Given the description of an element on the screen output the (x, y) to click on. 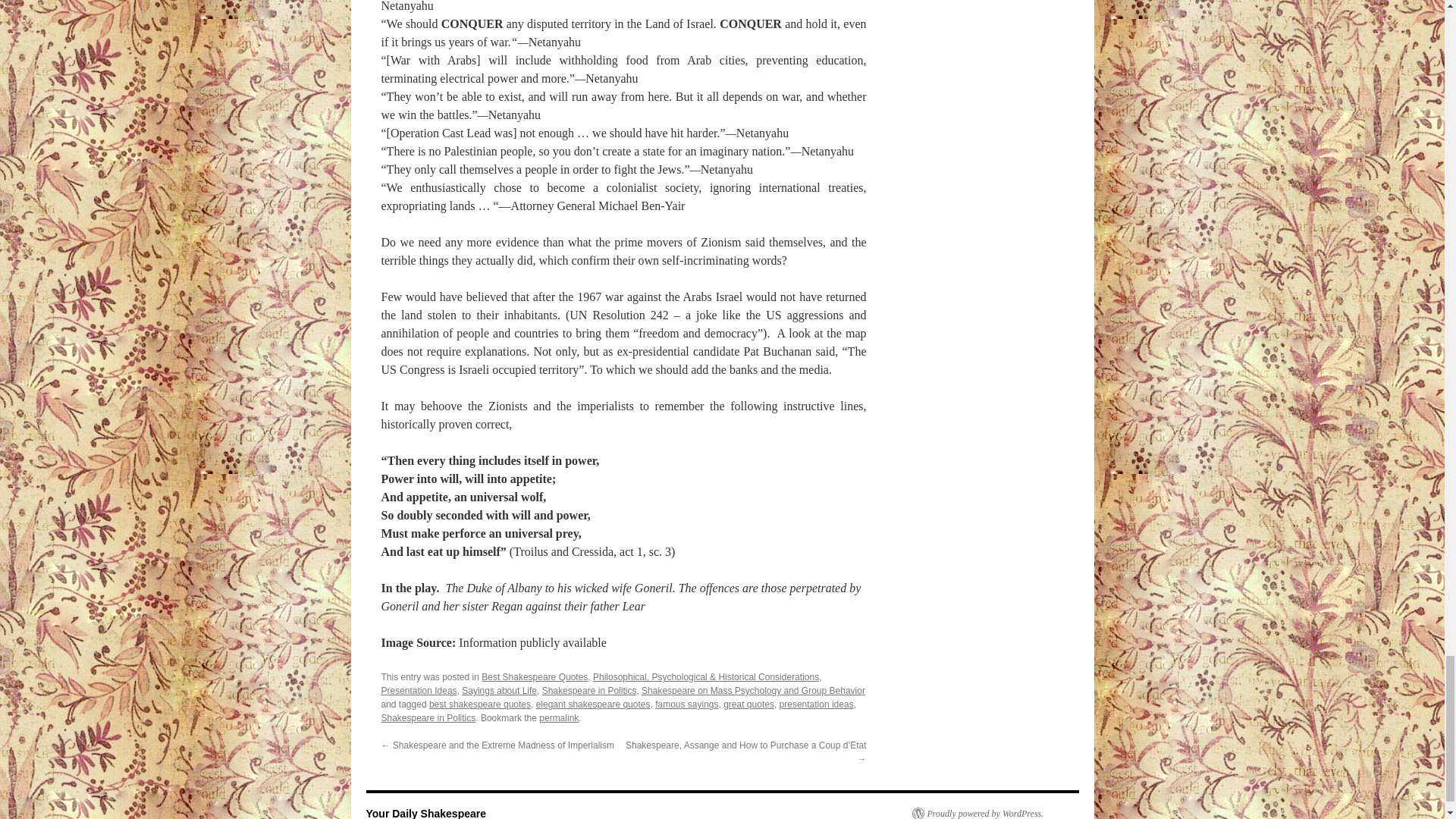
Permalink to Shakespeare and Zionism (558, 717)
presentation ideas (815, 704)
Shakespeare on Mass Psychology and Group Behavior (753, 690)
Shakespeare in Politics (589, 690)
Presentation Ideas (418, 690)
famous sayings (686, 704)
elegant shakespeare quotes (592, 704)
Best Shakespeare Quotes (534, 676)
great quotes (748, 704)
best shakespeare quotes (480, 704)
Sayings about Life (499, 690)
